Given the description of an element on the screen output the (x, y) to click on. 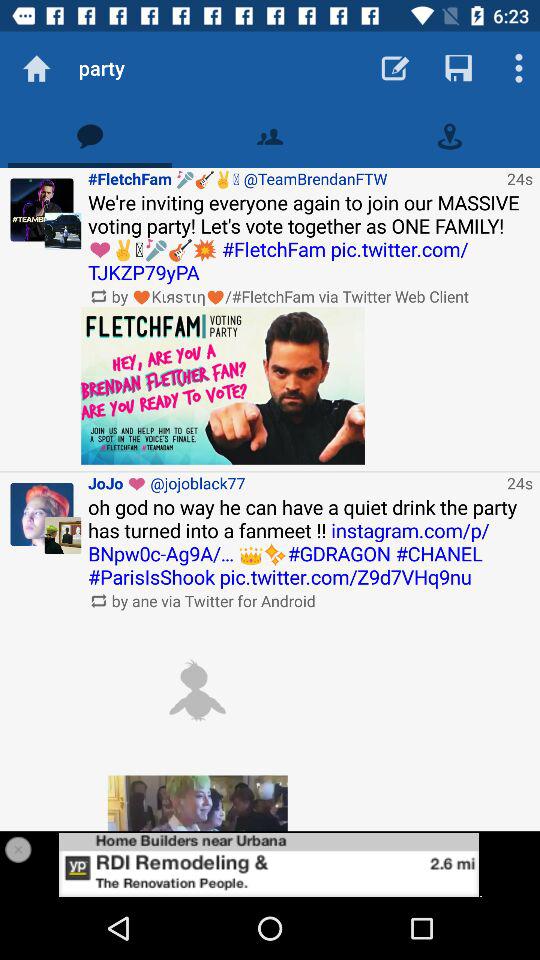
open user 's profile (41, 514)
